Given the description of an element on the screen output the (x, y) to click on. 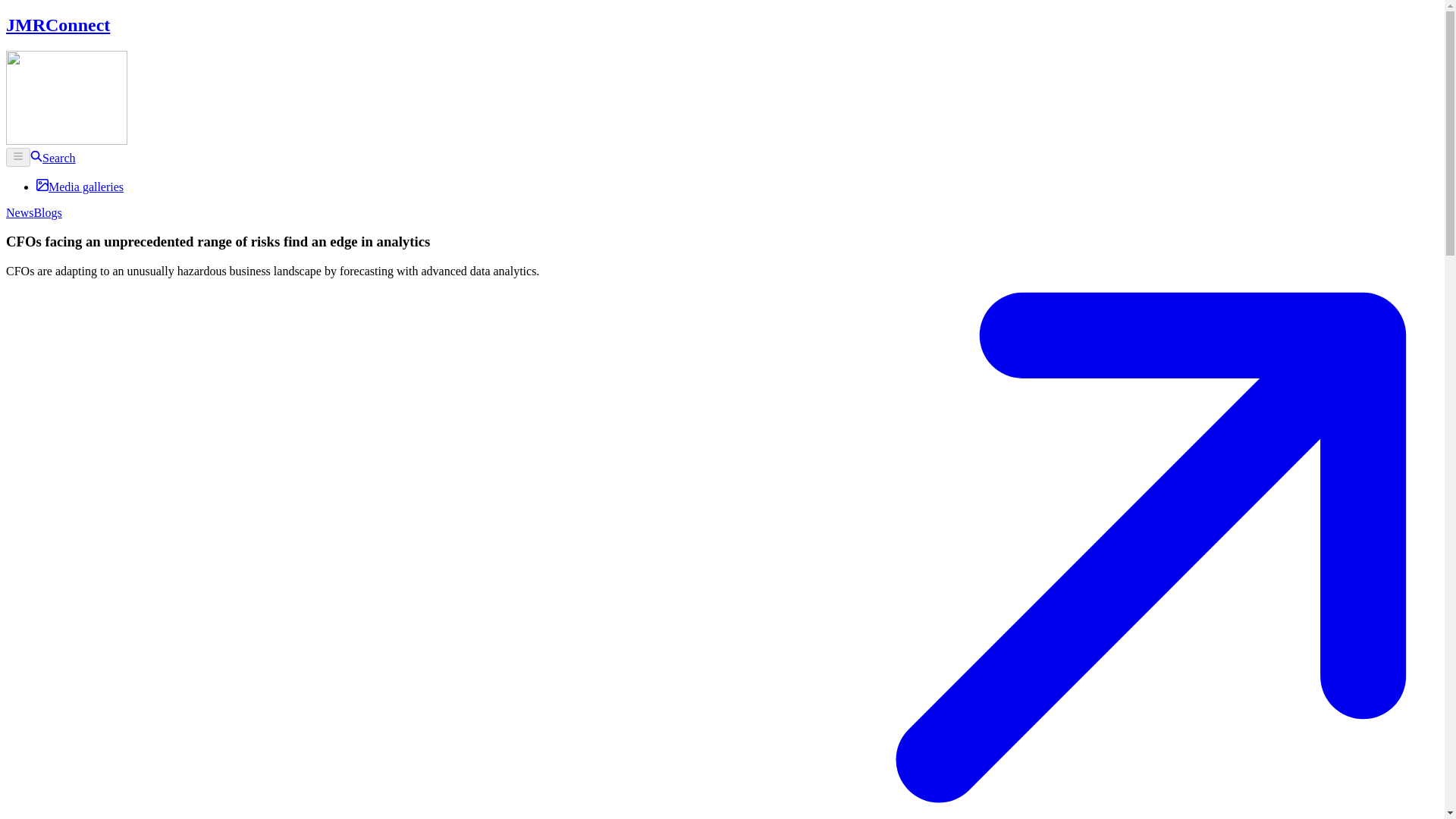
Blogs (47, 212)
Toggle navigation (17, 157)
Search (52, 157)
Media galleries (79, 186)
News (19, 212)
Search (52, 157)
